Given the description of an element on the screen output the (x, y) to click on. 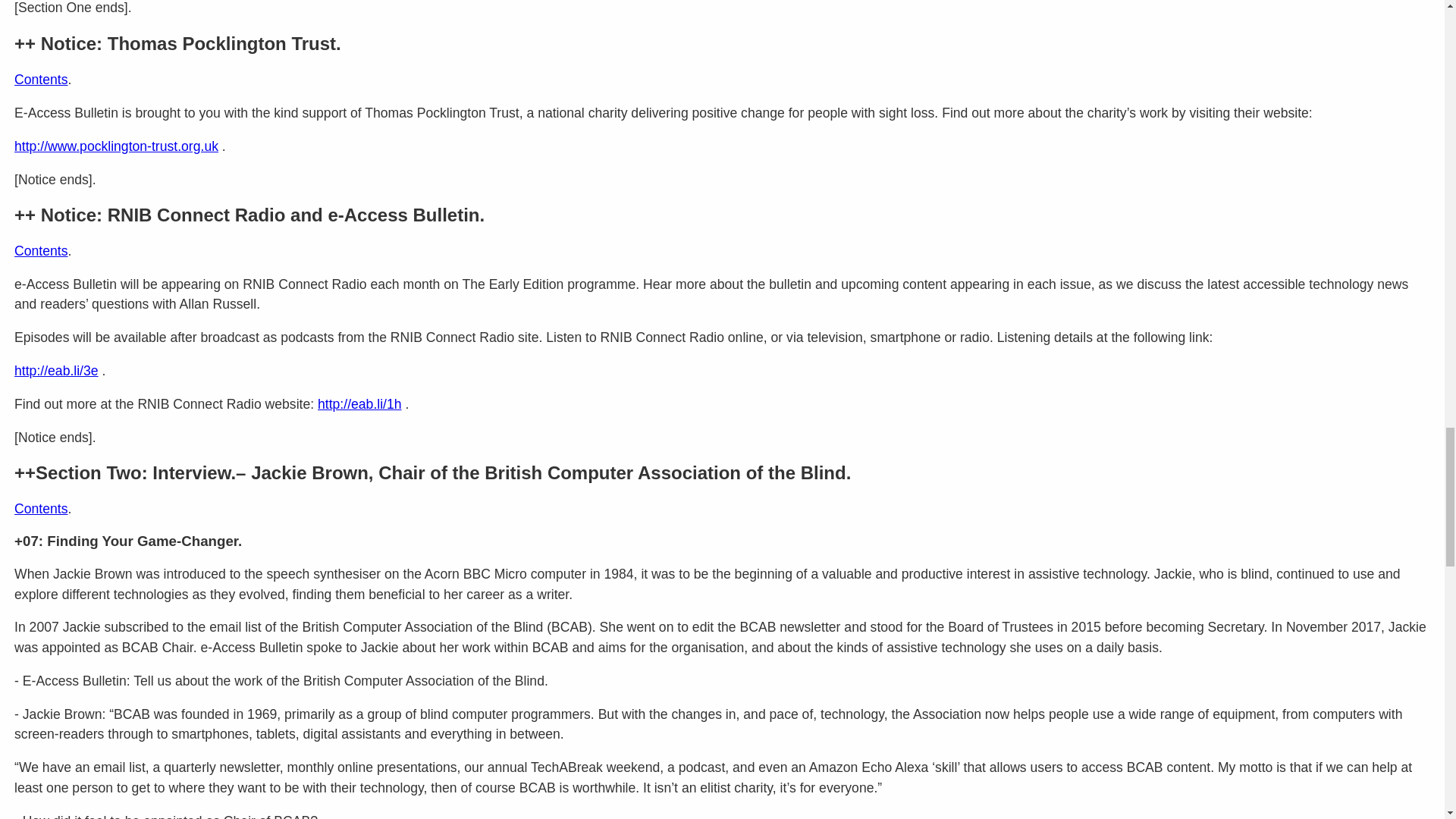
Contents (40, 250)
Contents (40, 79)
Contents (40, 508)
